Given the description of an element on the screen output the (x, y) to click on. 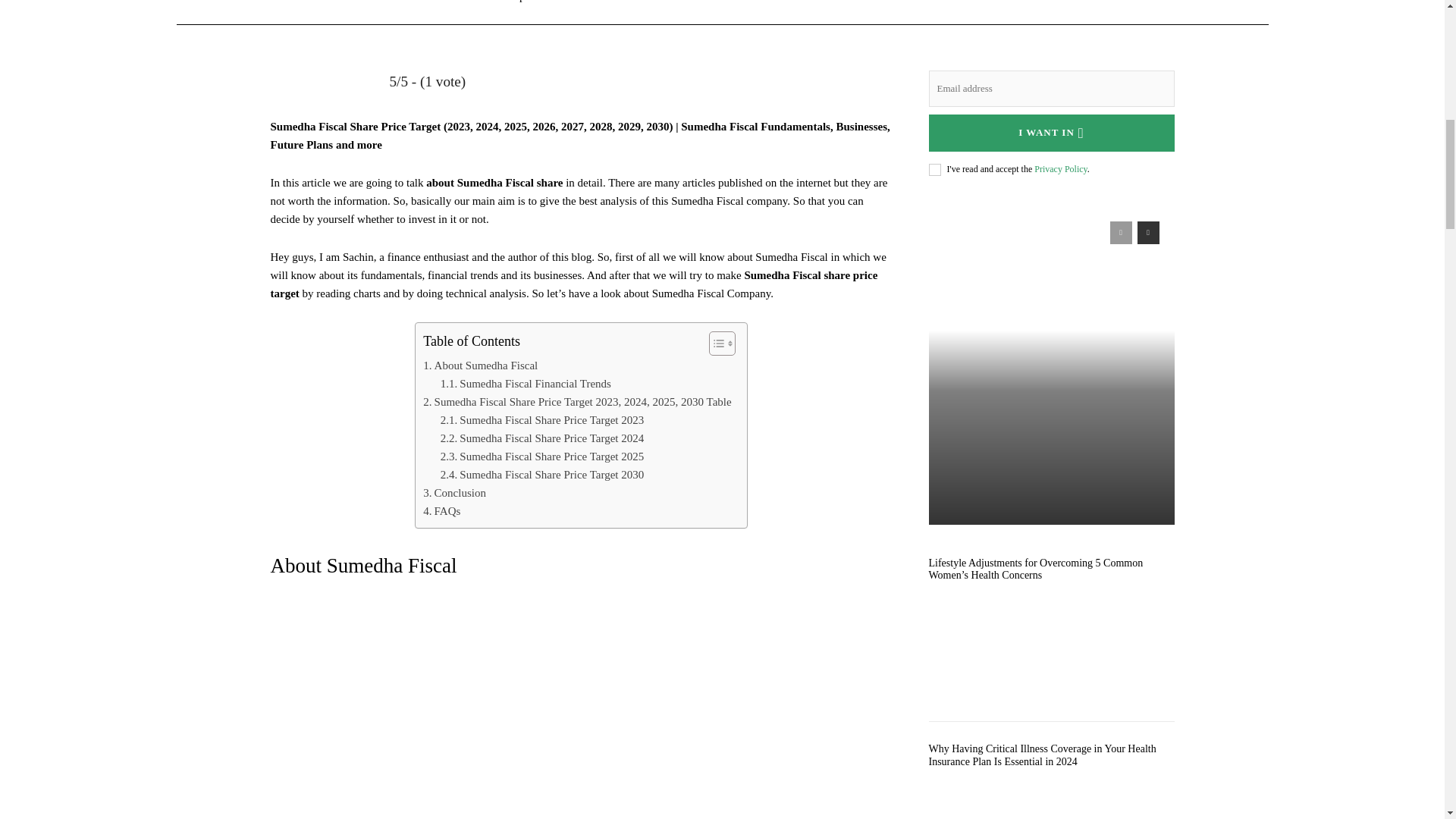
Sumedha Fiscal Share Price Target 2024 (542, 438)
Sumedha Fiscal Financial Trends (526, 383)
Sumedha Fiscal Share Price Target 2023 (542, 420)
Conclusion (454, 493)
Sumedha Fiscal Share Price Target 2025 (542, 456)
About Sumedha Fiscal (480, 365)
Sumedha Fiscal Share Price Target 2030 (542, 475)
